Given the description of an element on the screen output the (x, y) to click on. 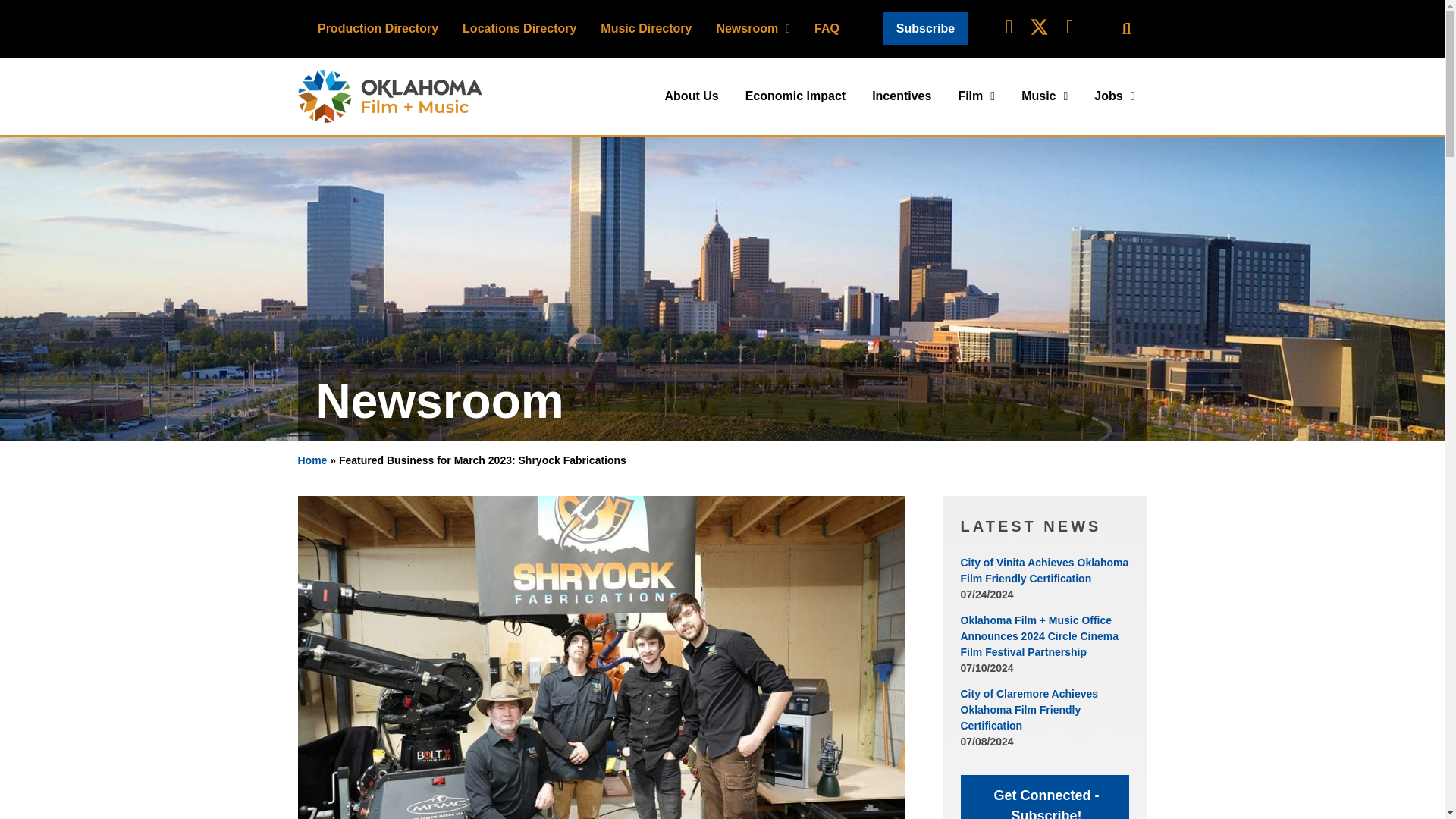
Economic Impact (795, 95)
Music Directory (645, 28)
Newsroom (752, 28)
Production Directory (377, 28)
Music (1044, 95)
Incentives (901, 95)
Film (975, 95)
FAQ (826, 28)
Subscribe (925, 28)
Locations Directory (518, 28)
About Us (691, 95)
